Given the description of an element on the screen output the (x, y) to click on. 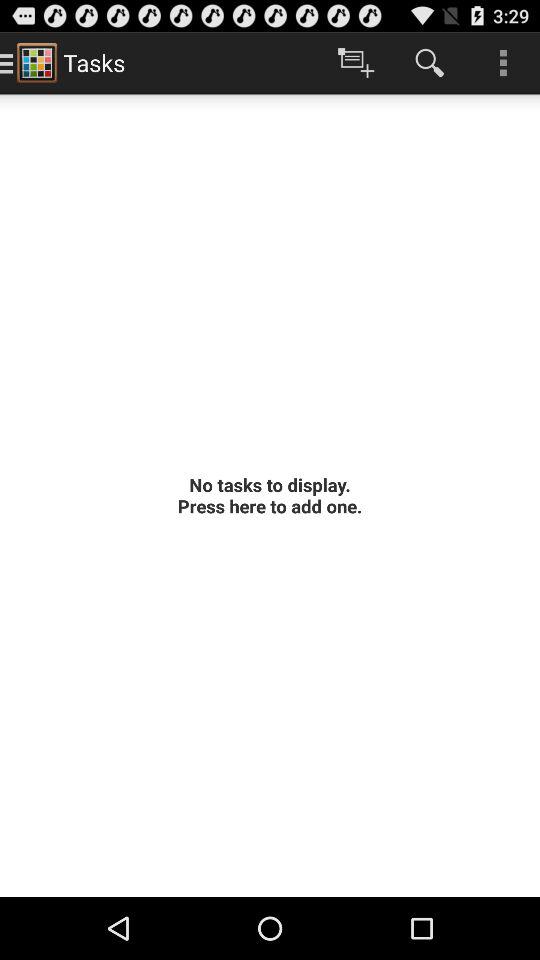
scroll until no tasks to item (270, 495)
